Given the description of an element on the screen output the (x, y) to click on. 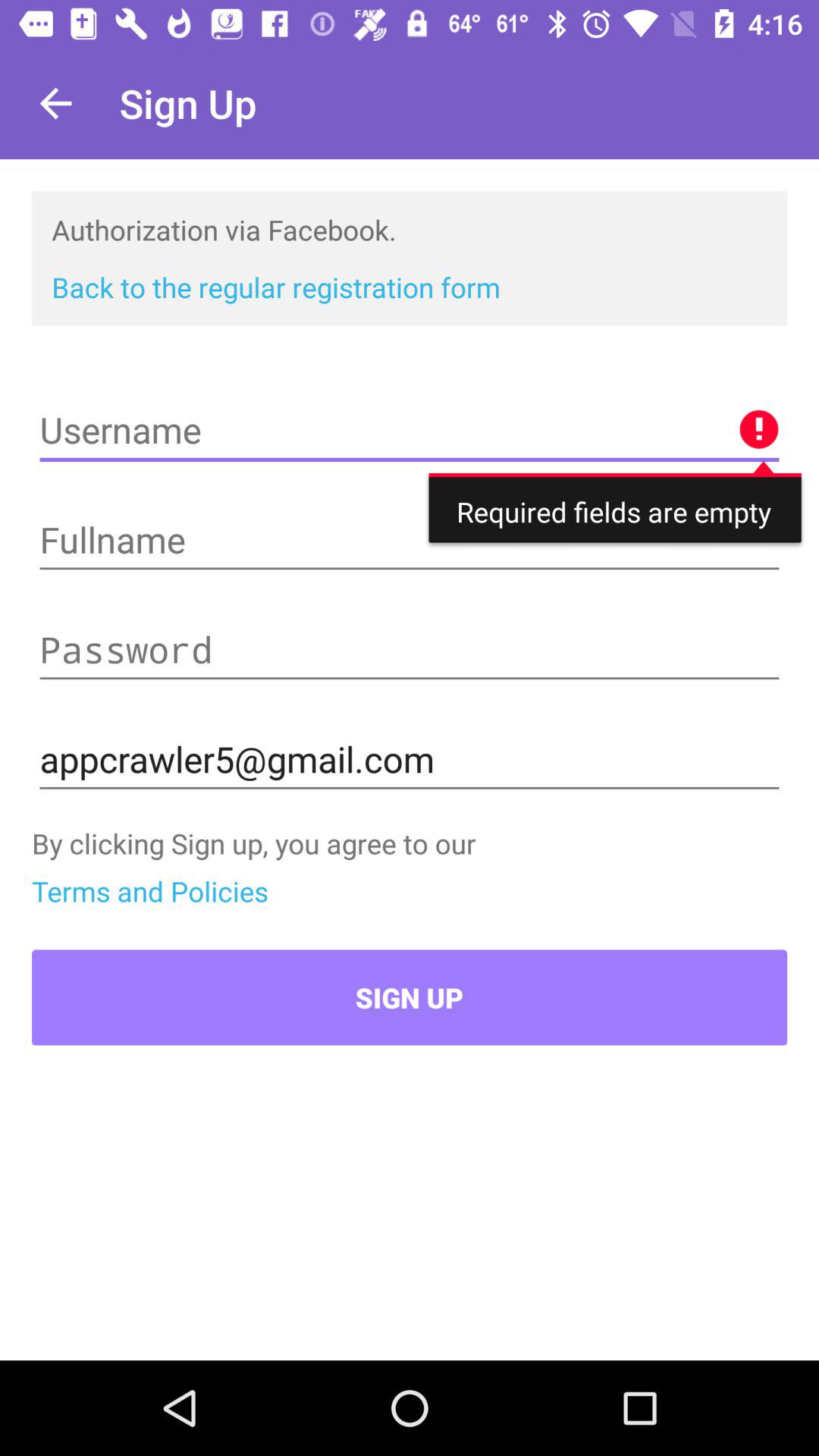
select option back to the regular registration form on page (275, 286)
